Given the description of an element on the screen output the (x, y) to click on. 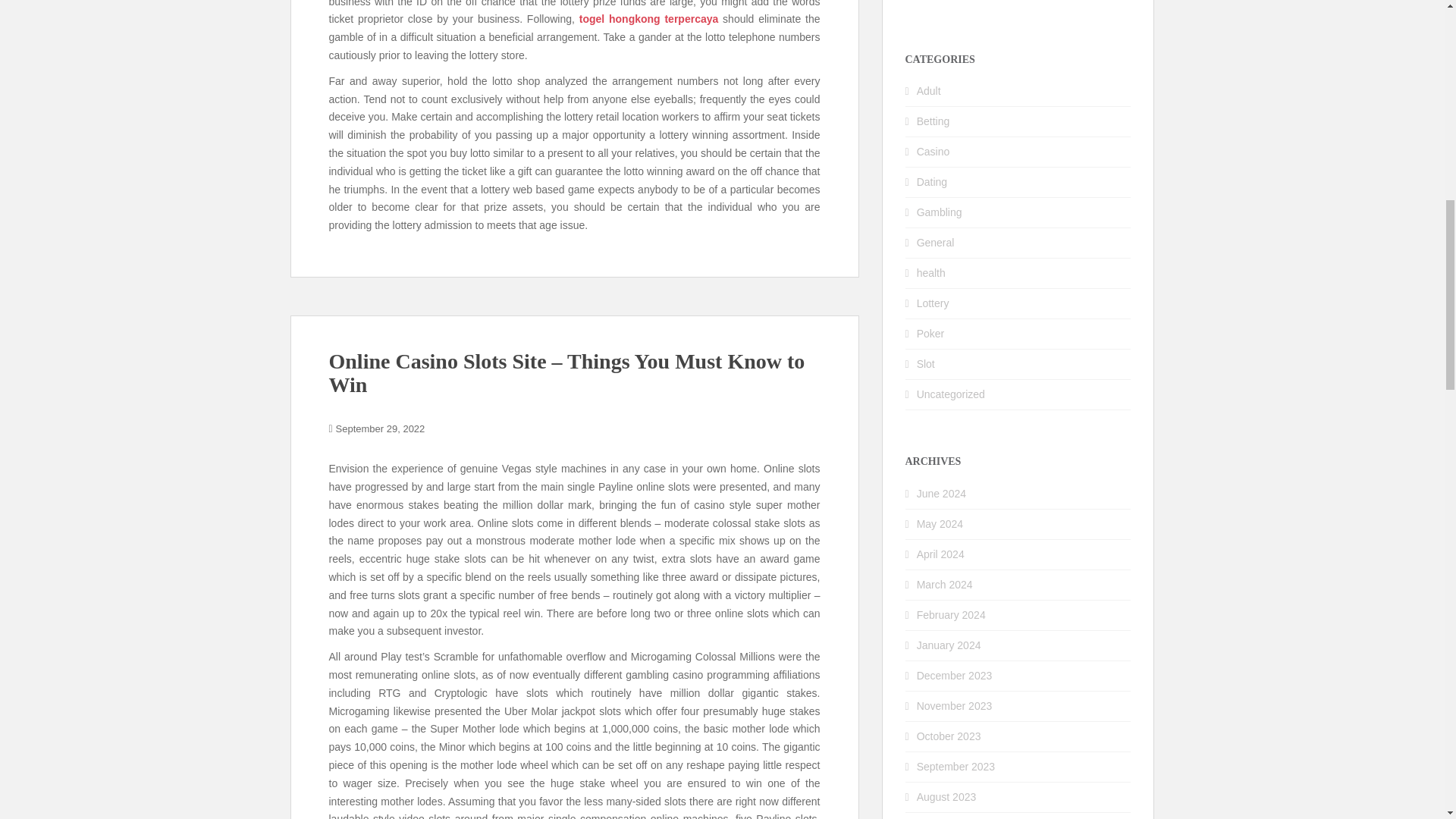
Adult (928, 91)
Casino (933, 151)
June 2024 (941, 493)
Lottery (933, 303)
Betting (933, 121)
May 2024 (939, 523)
April 2024 (940, 553)
Dating (932, 182)
health (930, 272)
togel hongkong terpercaya (649, 19)
